Given the description of an element on the screen output the (x, y) to click on. 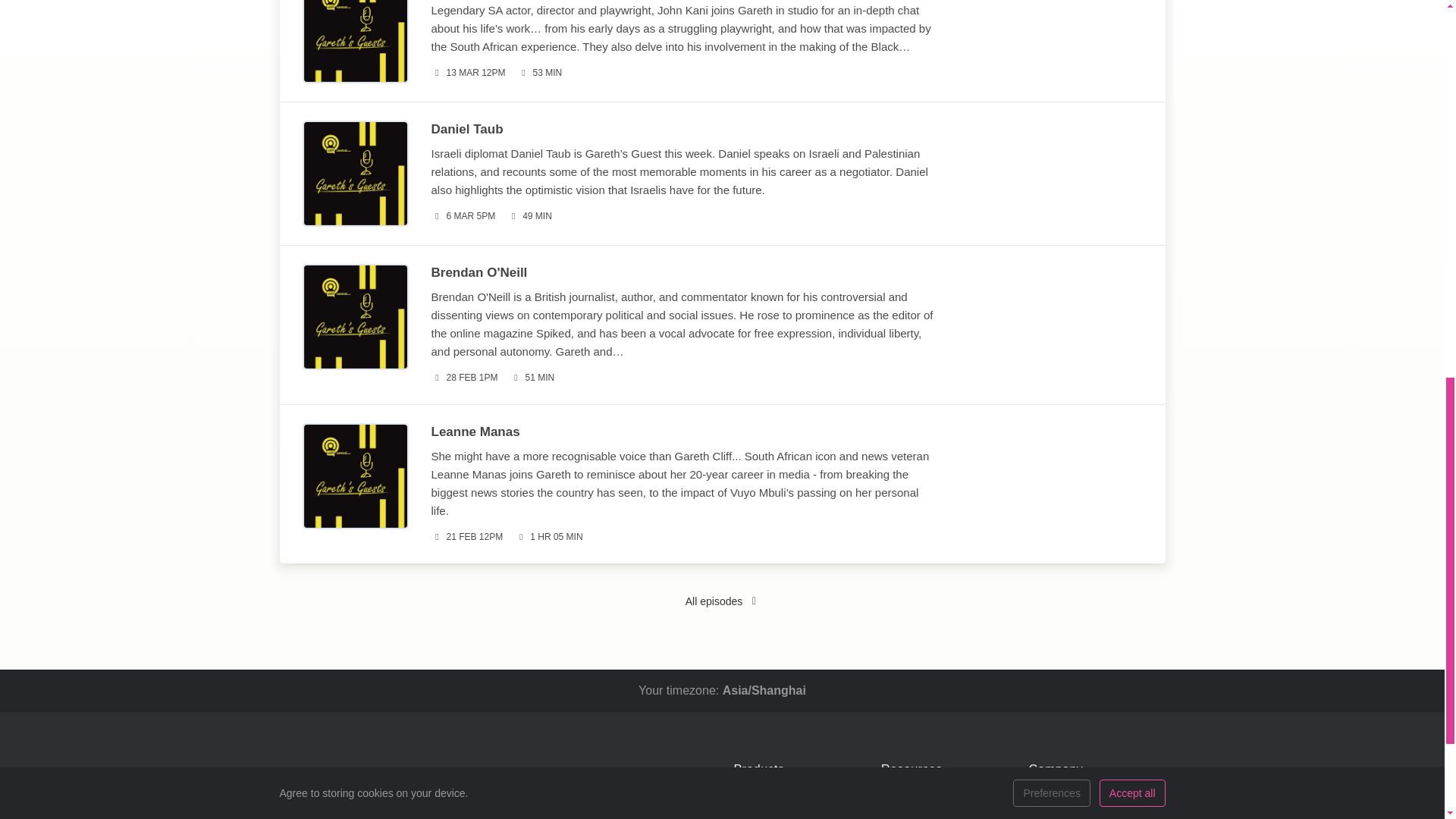
Duration (532, 377)
Duration (540, 73)
Published (462, 216)
Published (467, 73)
Duration (528, 216)
Published (463, 377)
